Given the description of an element on the screen output the (x, y) to click on. 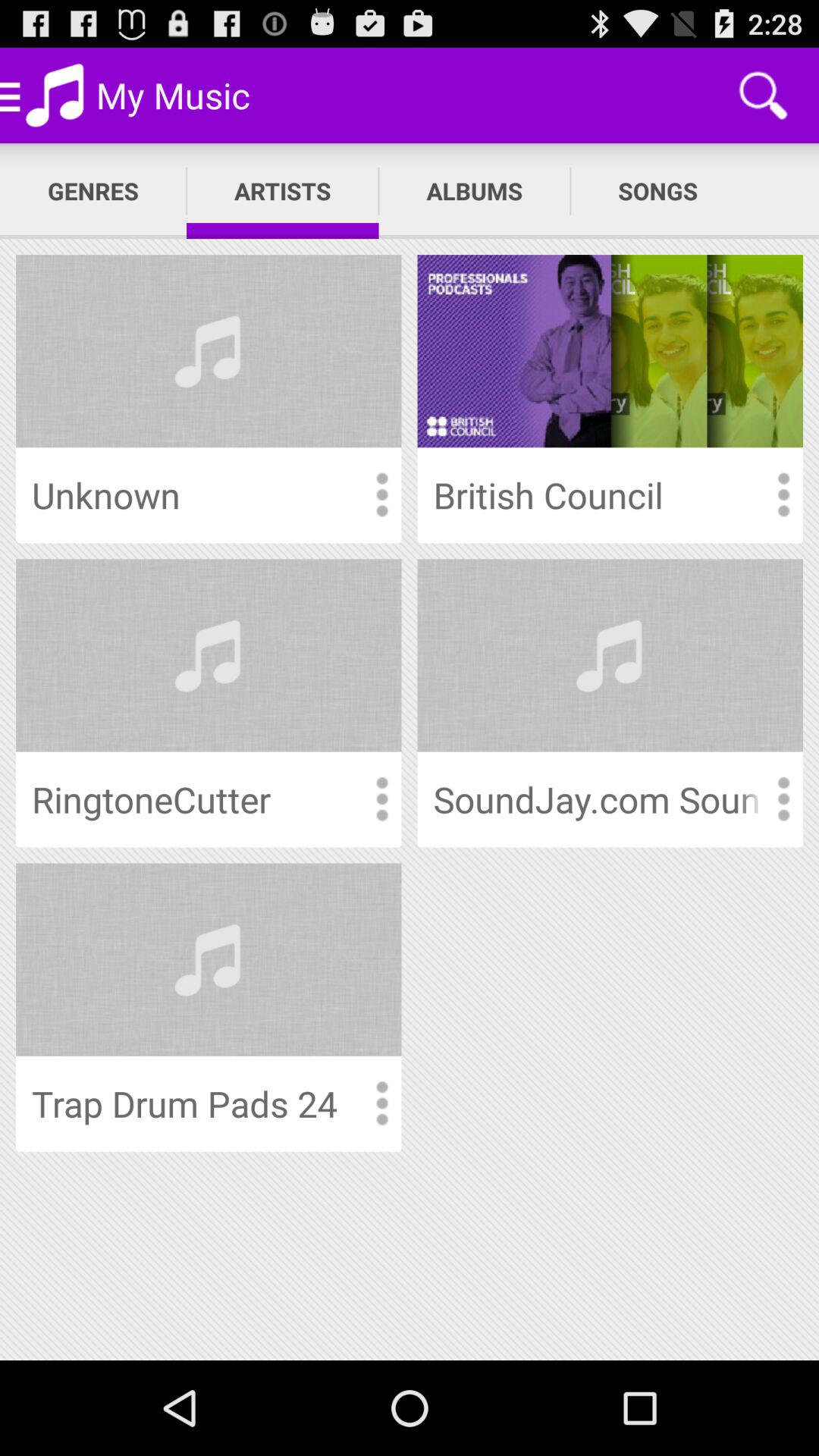
select item below my music (282, 190)
